Given the description of an element on the screen output the (x, y) to click on. 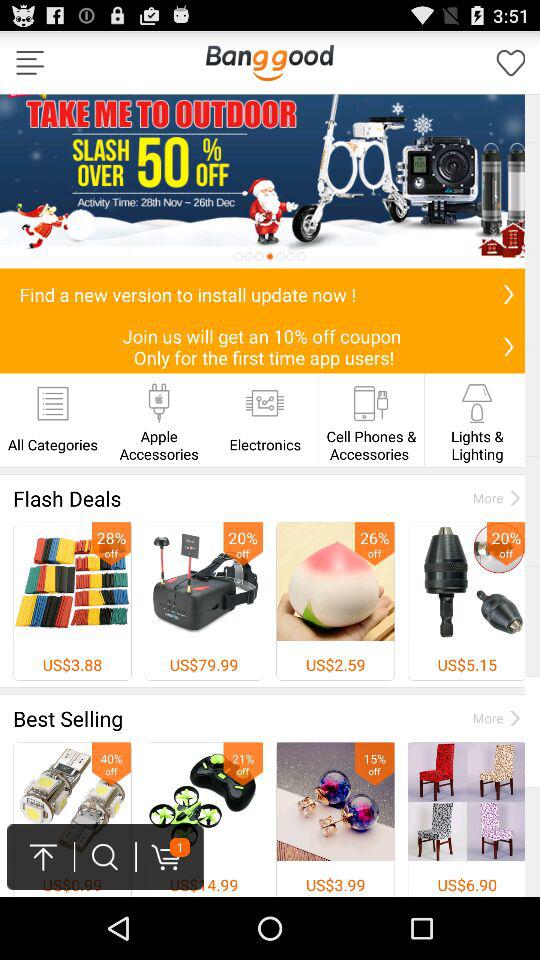
view menu options (29, 62)
